Given the description of an element on the screen output the (x, y) to click on. 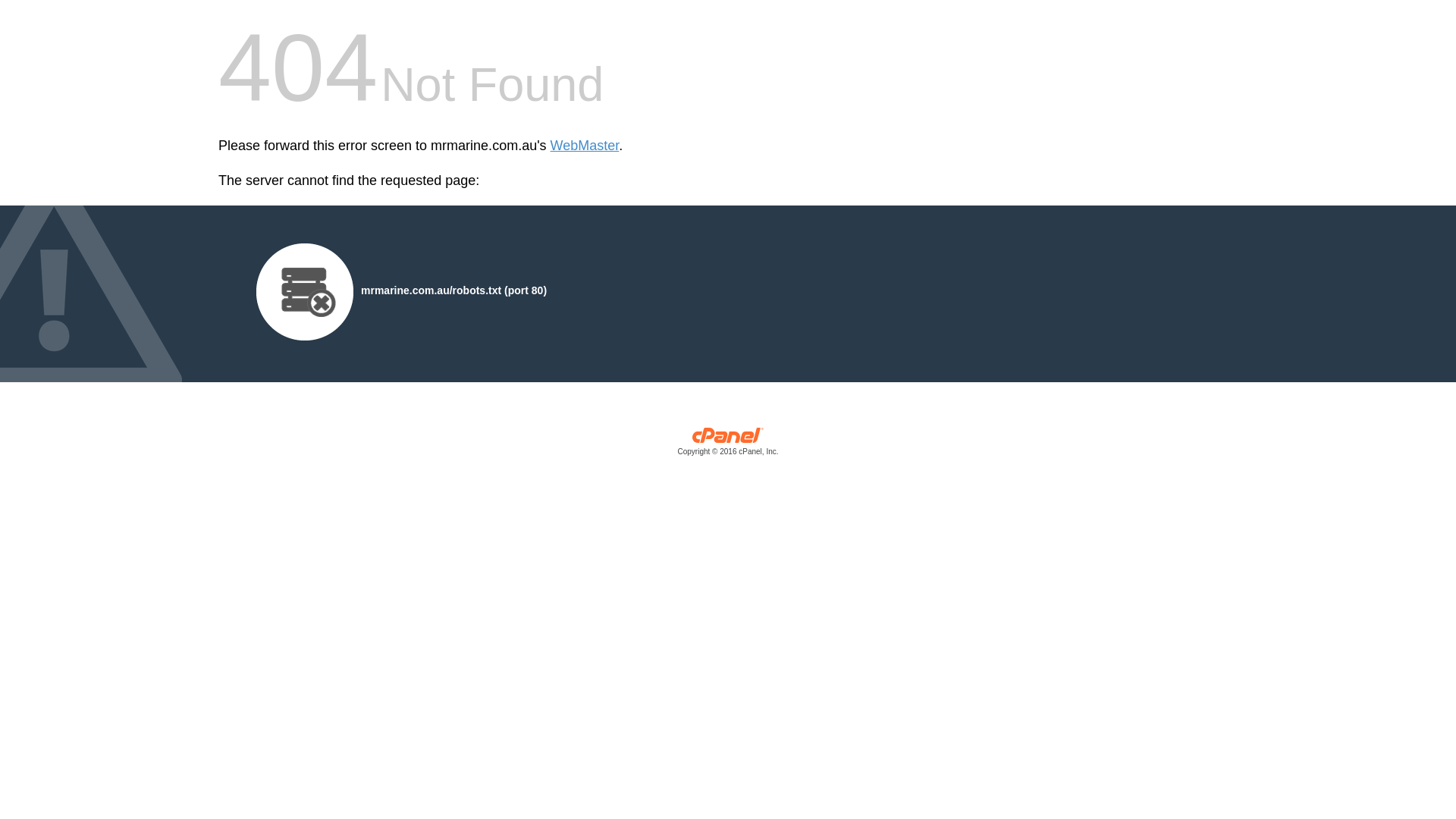
WebMaster Element type: text (584, 145)
